Given the description of an element on the screen output the (x, y) to click on. 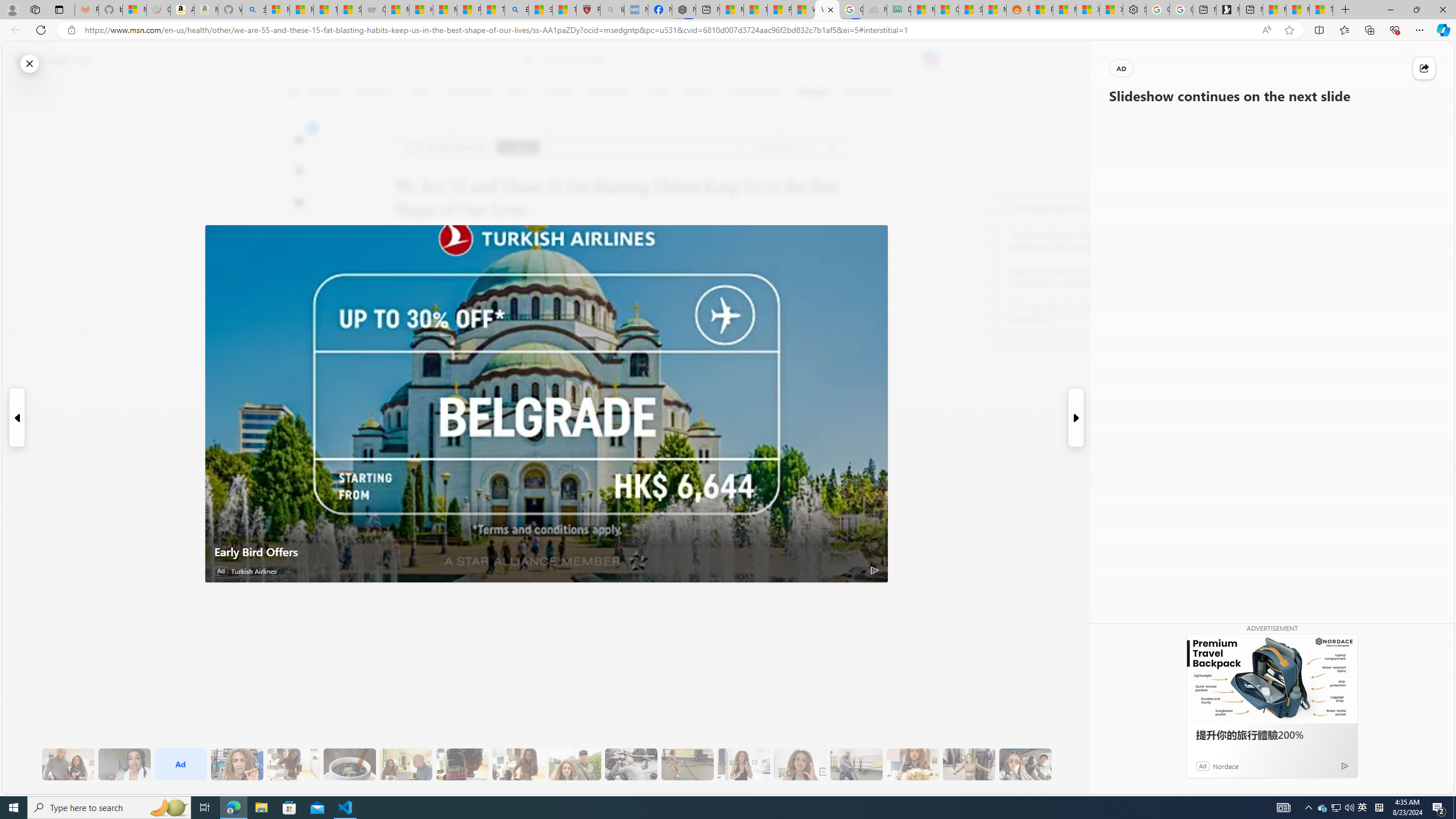
Class: at-item (299, 266)
Follow (518, 146)
11 They Eat More Protein for Breakfast (743, 764)
Previous Slide (16, 417)
3 They Drink Lemon Tea (293, 764)
Turkish Airlines (253, 570)
